Given the description of an element on the screen output the (x, y) to click on. 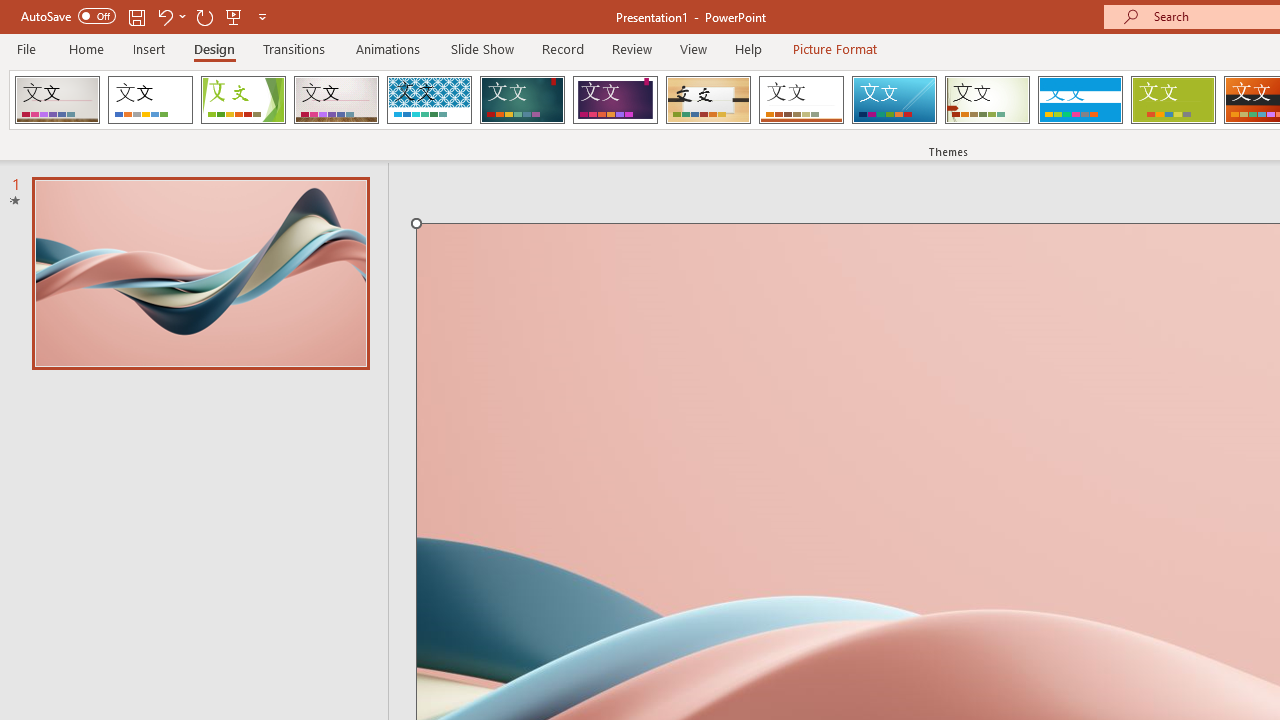
Ion Boardroom (615, 100)
Organic (708, 100)
Basis (1172, 100)
Wisp (987, 100)
